Given the description of an element on the screen output the (x, y) to click on. 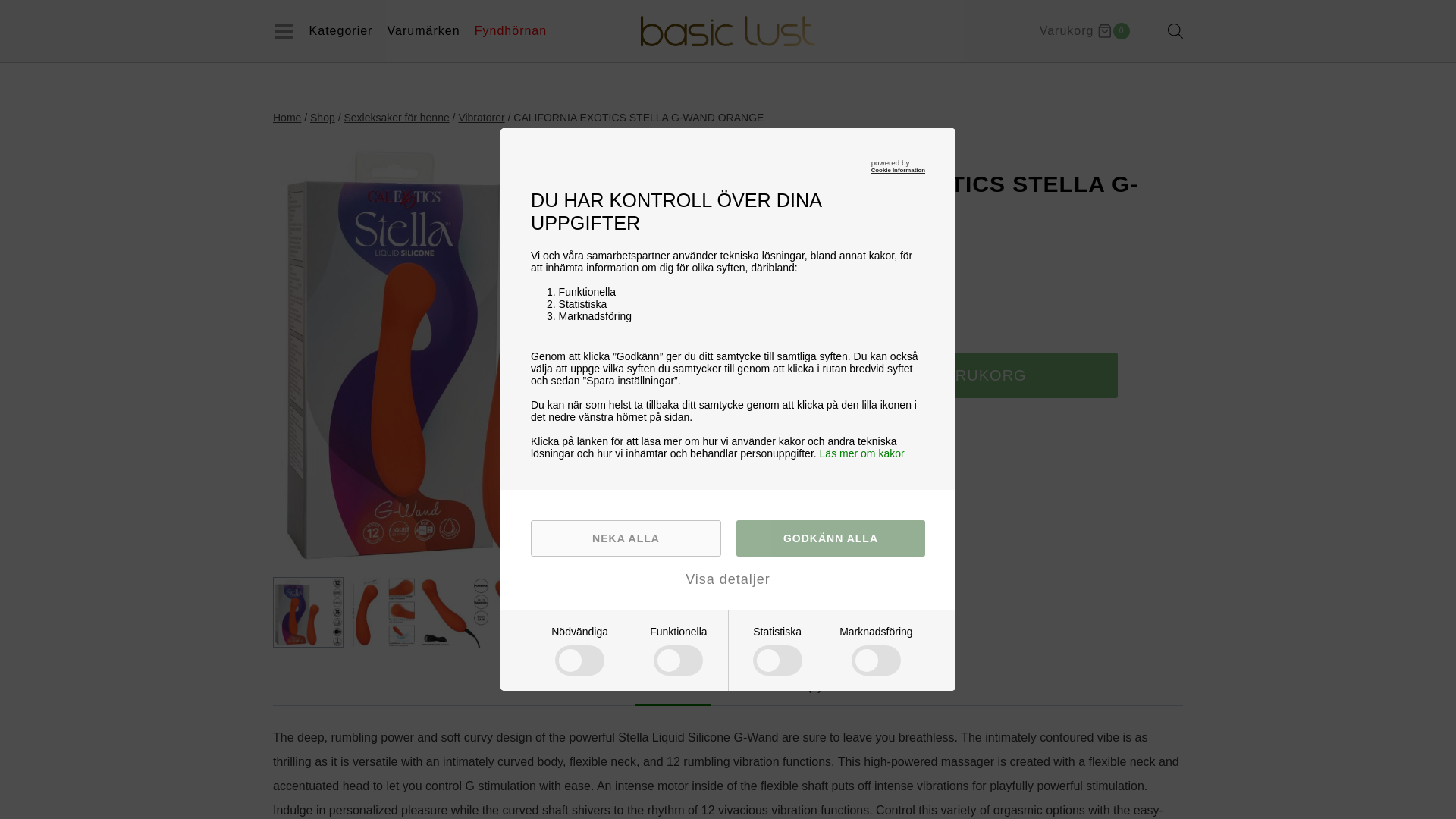
NEKA ALLA (625, 538)
Cookie Information (897, 170)
Visa detaljer (727, 579)
